Given the description of an element on the screen output the (x, y) to click on. 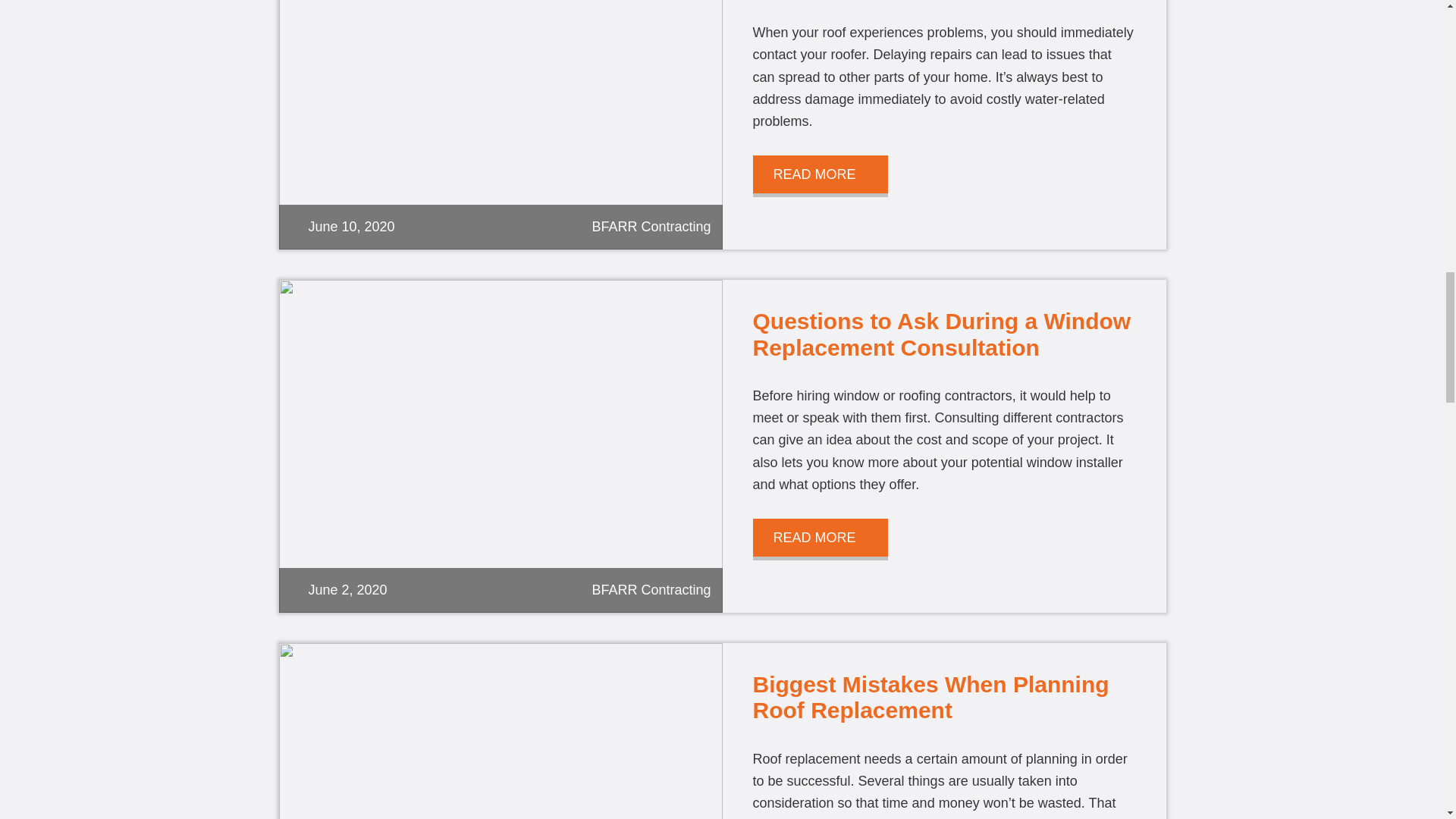
file.jpg (500, 125)
615-bfarrcontracting-long-form1 (500, 730)
